Given the description of an element on the screen output the (x, y) to click on. 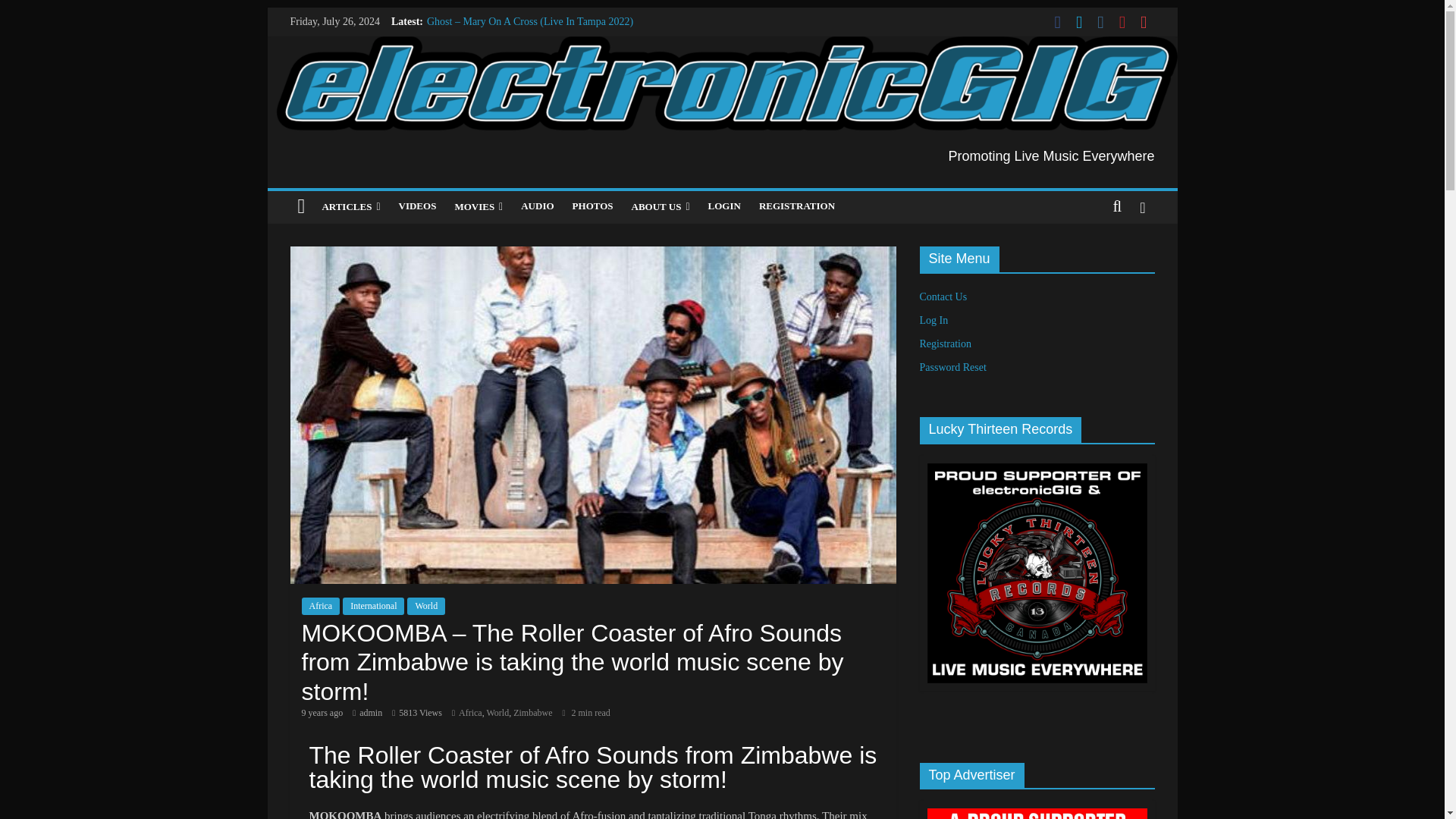
AUDIO (537, 205)
admin (370, 712)
admin (370, 712)
World (426, 605)
ABOUT US (660, 206)
ARTICLES (350, 206)
Africa (469, 712)
LOGIN (723, 205)
Zimbabwe (532, 712)
MOVIES (478, 206)
International (373, 605)
World (497, 712)
PHOTOS (593, 205)
Africa (320, 605)
VIDEOS (417, 205)
